Given the description of an element on the screen output the (x, y) to click on. 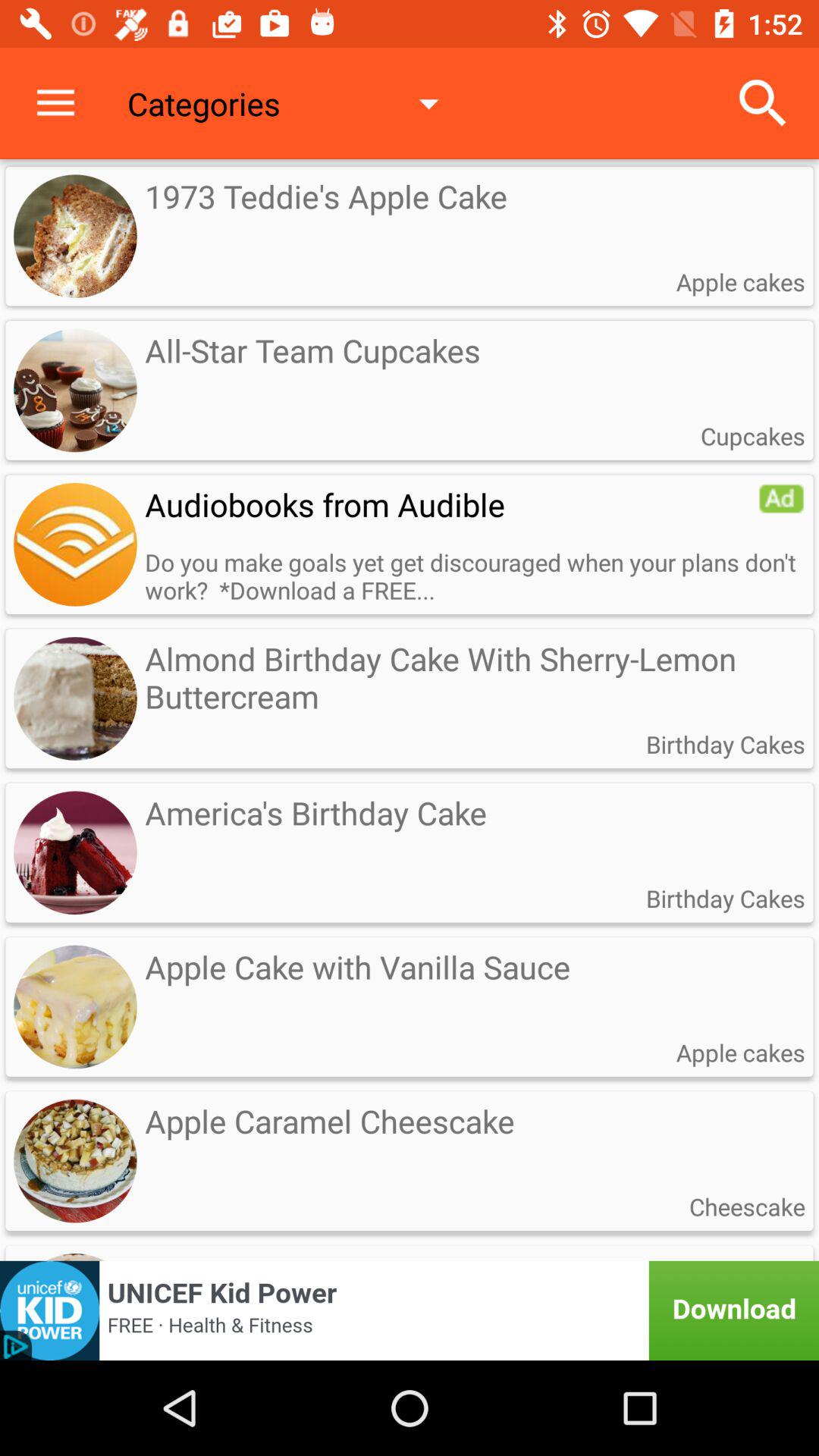
tap do you make item (475, 576)
